Given the description of an element on the screen output the (x, y) to click on. 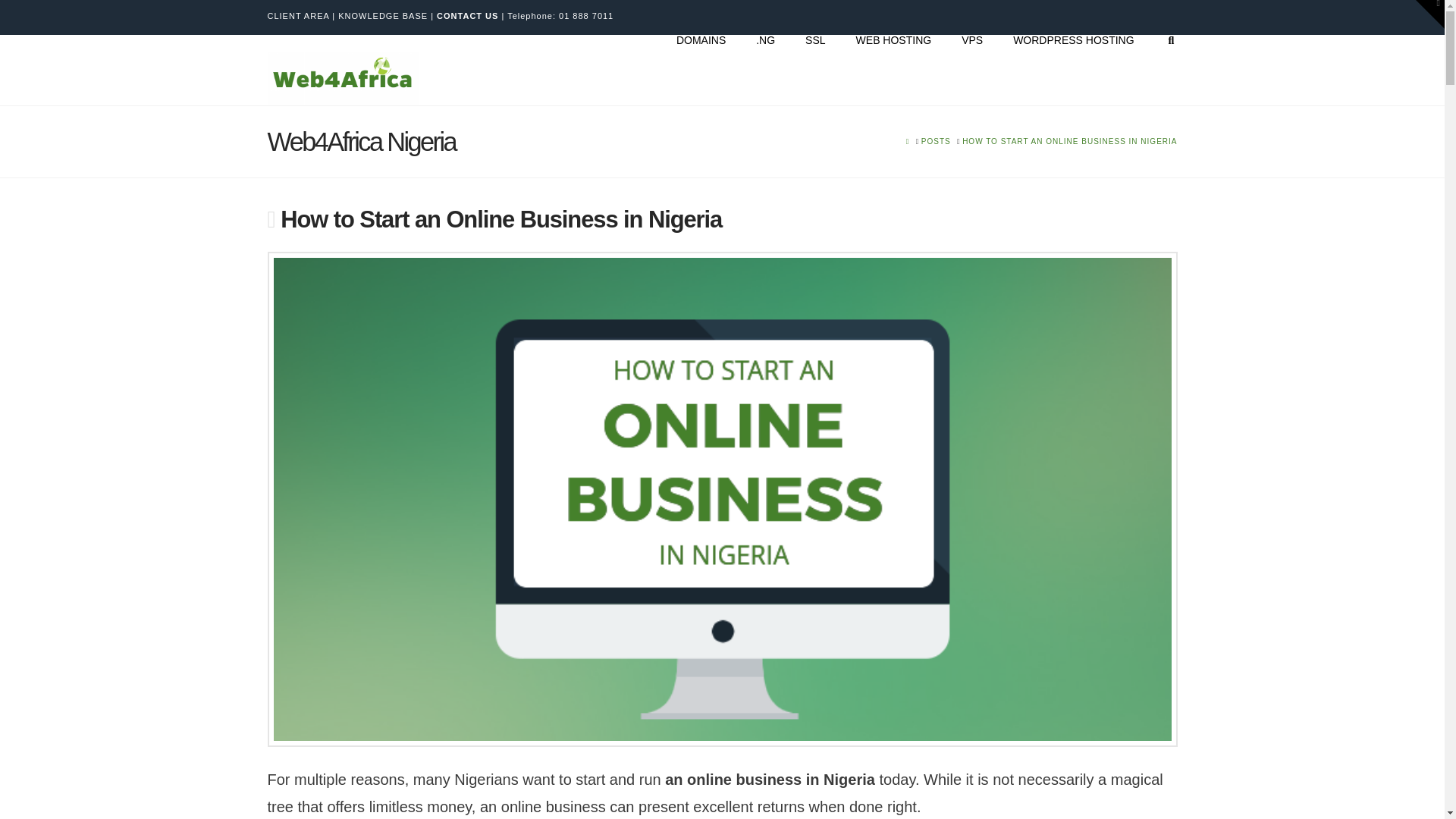
POSTS (935, 141)
HOW TO START AN ONLINE BUSINESS IN NIGERIA (1069, 141)
CONTACT US (466, 15)
KNOWLEDGE BASE (382, 15)
CLIENT AREA (297, 15)
WORDPRESS HOSTING (1072, 69)
DOMAINS (701, 69)
WEB HOSTING (894, 69)
You Are Here (1069, 141)
